Given the description of an element on the screen output the (x, y) to click on. 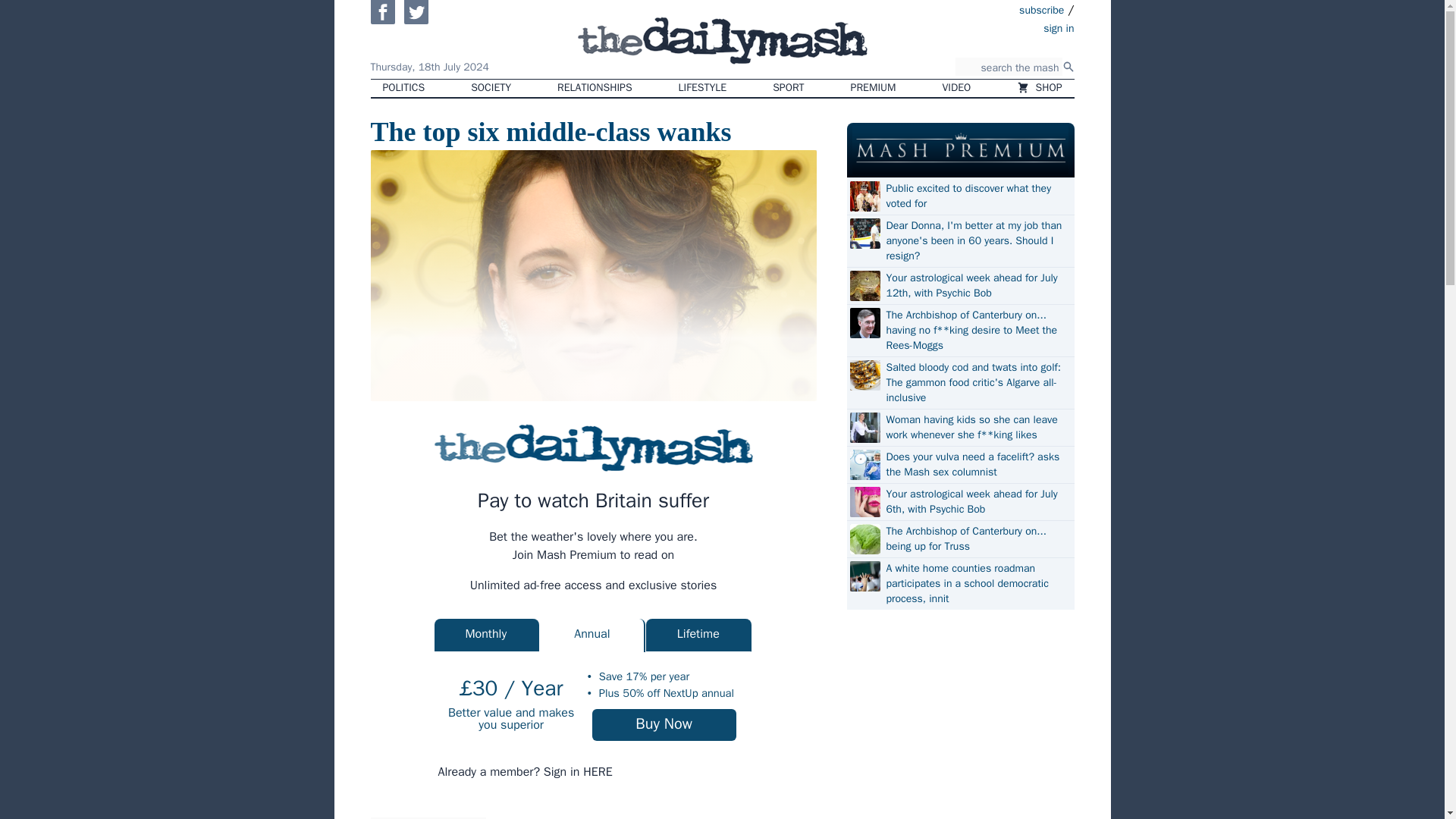
LIFESTYLE (702, 88)
RELATIONSHIPS (593, 88)
POLITICS (402, 88)
Buy Now (664, 725)
Public excited to discover what they voted for (977, 195)
SPORT (787, 88)
SHOP (1039, 88)
subscribe (1041, 9)
SOCIETY (490, 88)
PREMIUM (873, 88)
VIDEO (957, 88)
Your astrological week ahead for July 12th, with Psychic Bob (977, 286)
sign in (970, 27)
